Given the description of an element on the screen output the (x, y) to click on. 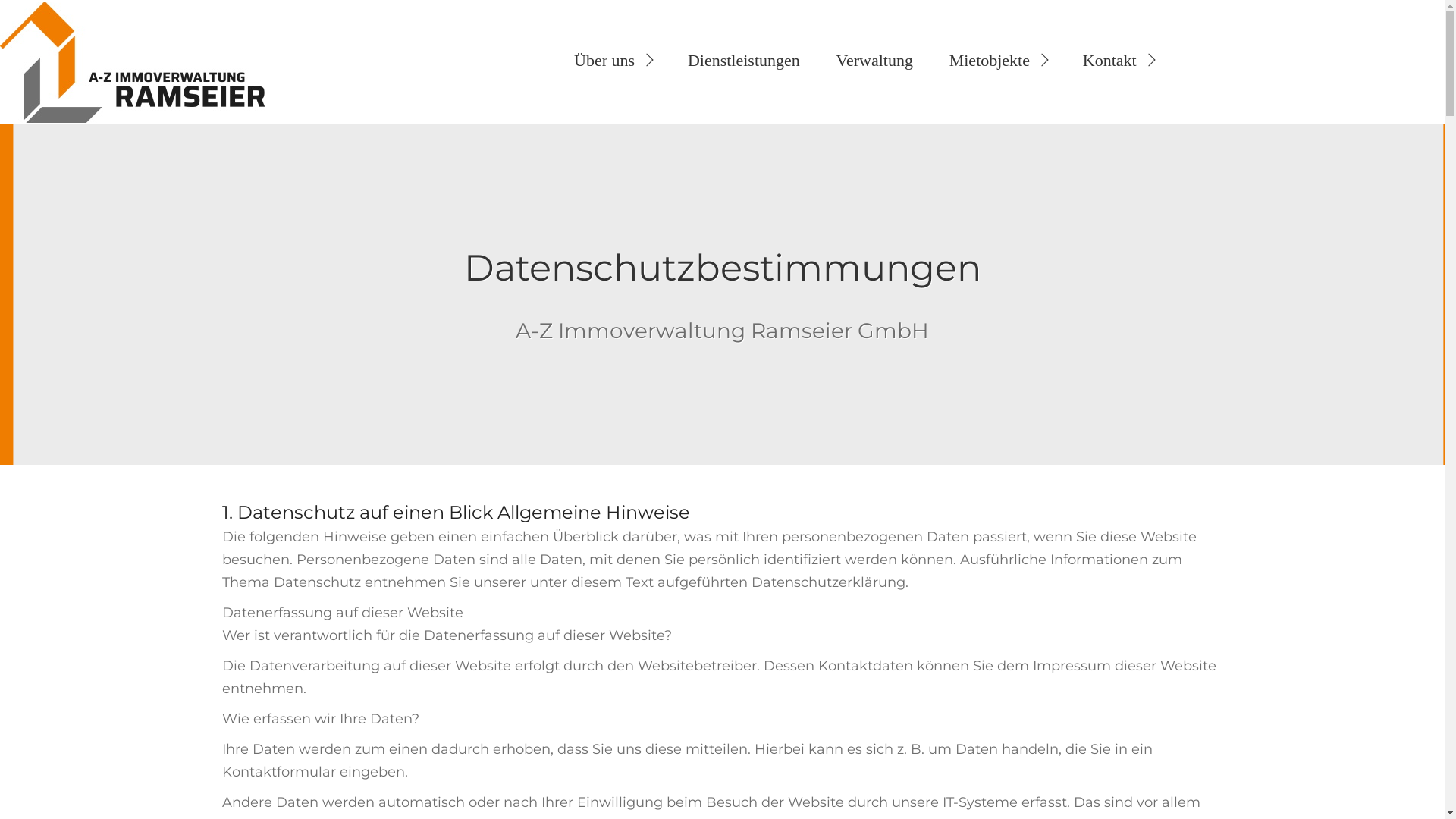
A-Z IMMOVERWALTUNG Element type: hover (132, 61)
Mietobjekte Element type: text (996, 60)
Kontakt Element type: text (1116, 60)
Dienstleistungen Element type: text (742, 60)
Verwaltung Element type: text (873, 60)
